Given the description of an element on the screen output the (x, y) to click on. 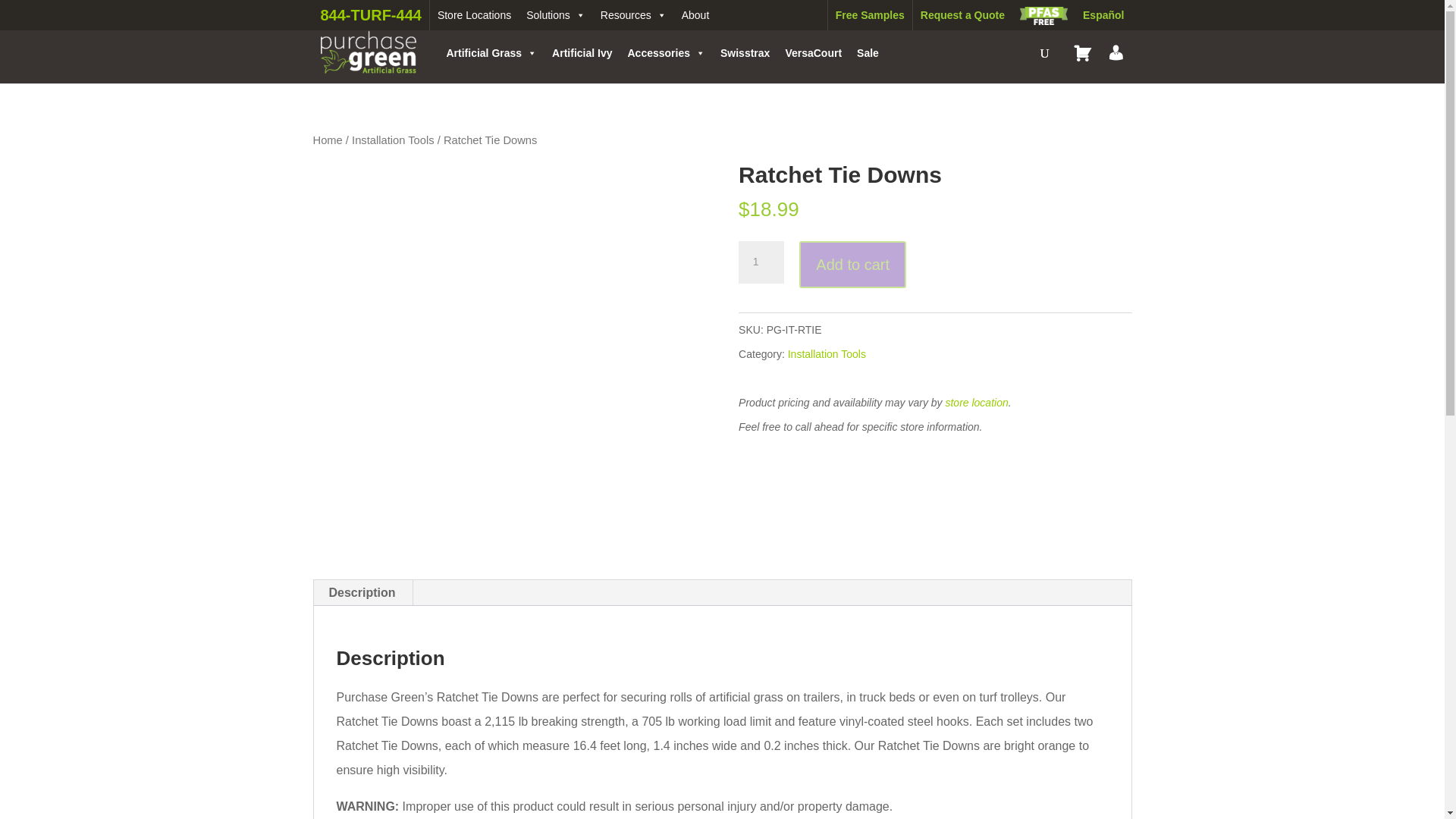
844-TURF-444 (371, 15)
Free Samples (869, 15)
Request a Quote (961, 15)
1 (761, 261)
Resources (633, 15)
Artificial Grass (491, 52)
Solutions (555, 15)
Store Locations (473, 15)
About (695, 15)
